Given the description of an element on the screen output the (x, y) to click on. 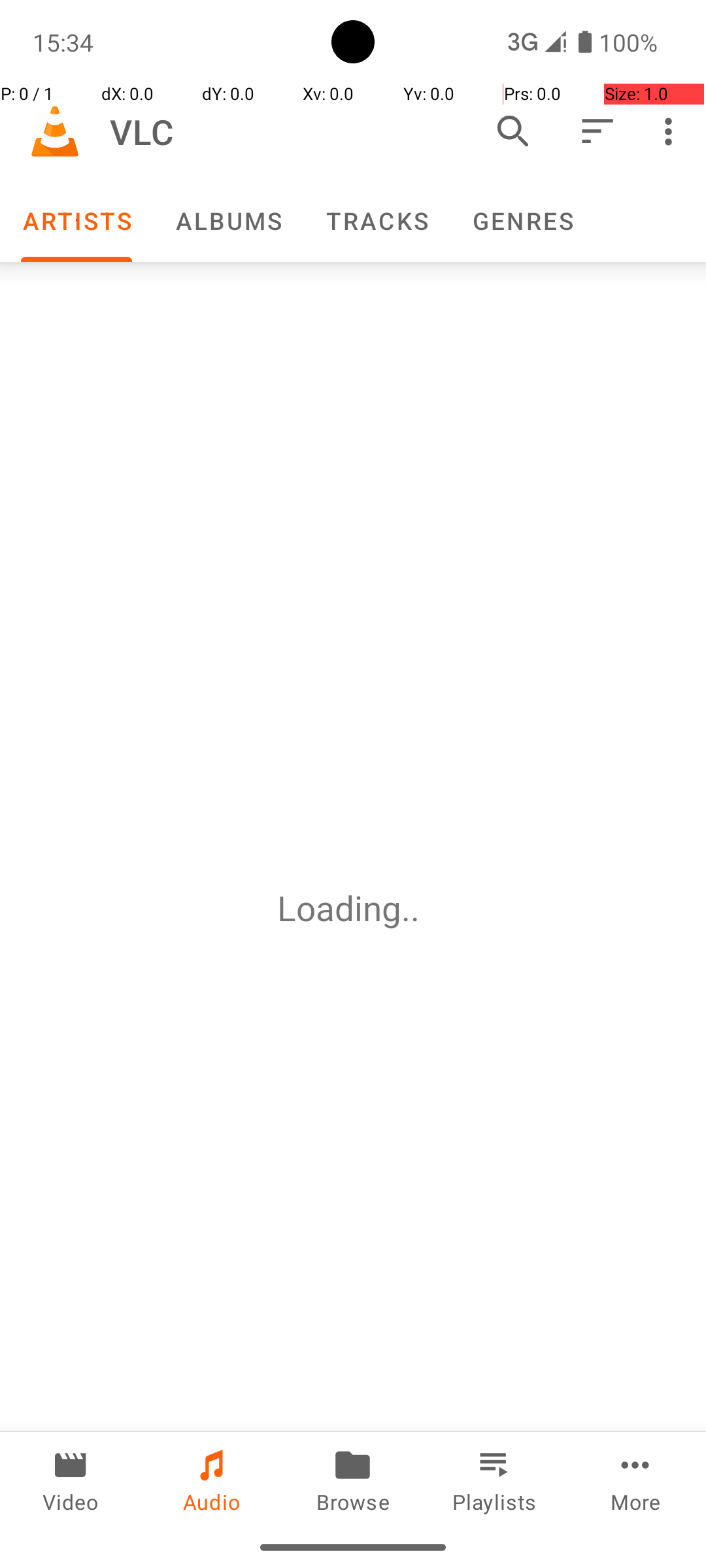
.. Element type: android.widget.TextView (414, 907)
